Given the description of an element on the screen output the (x, y) to click on. 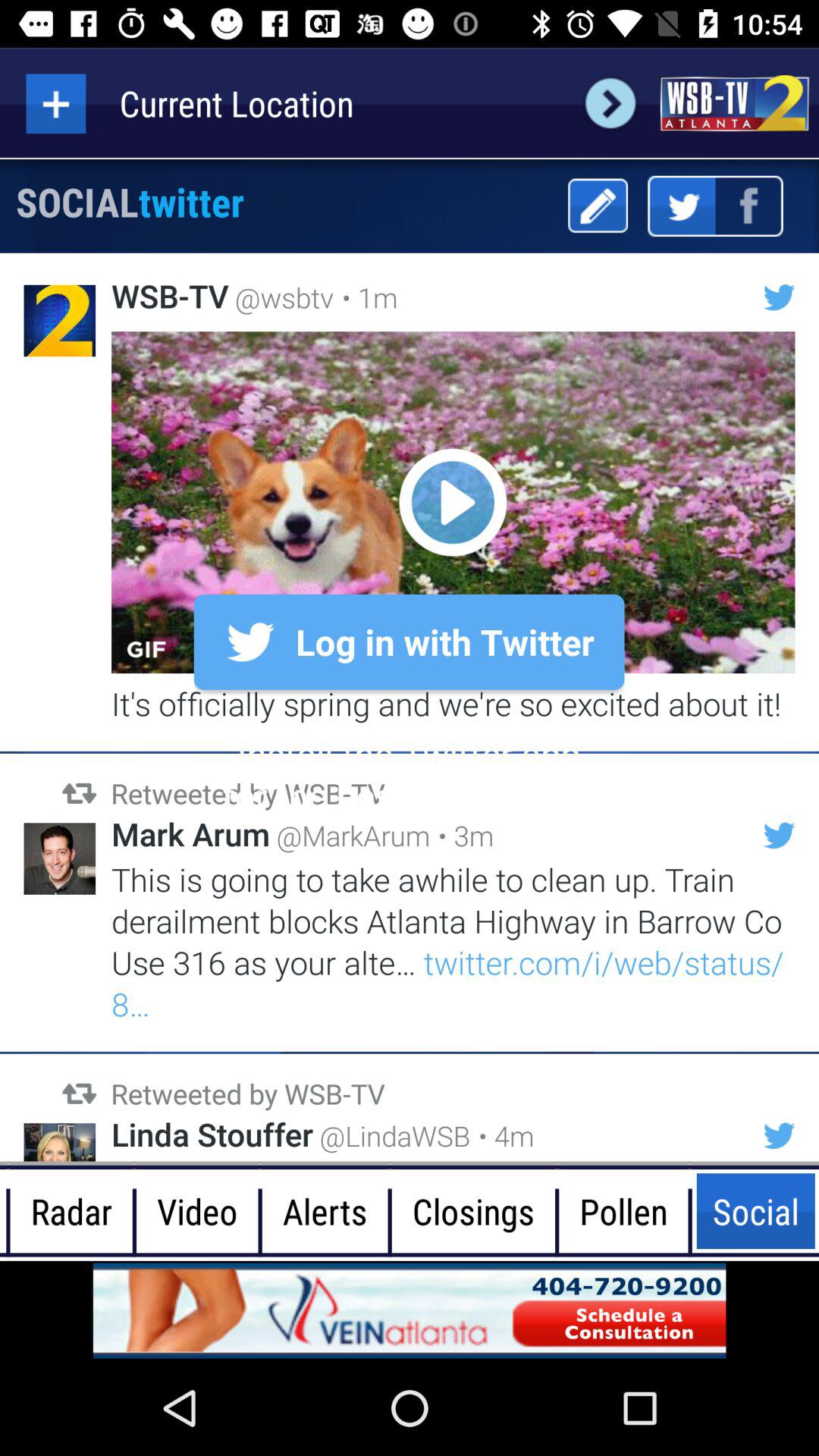
open advertisements (409, 1310)
